Given the description of an element on the screen output the (x, y) to click on. 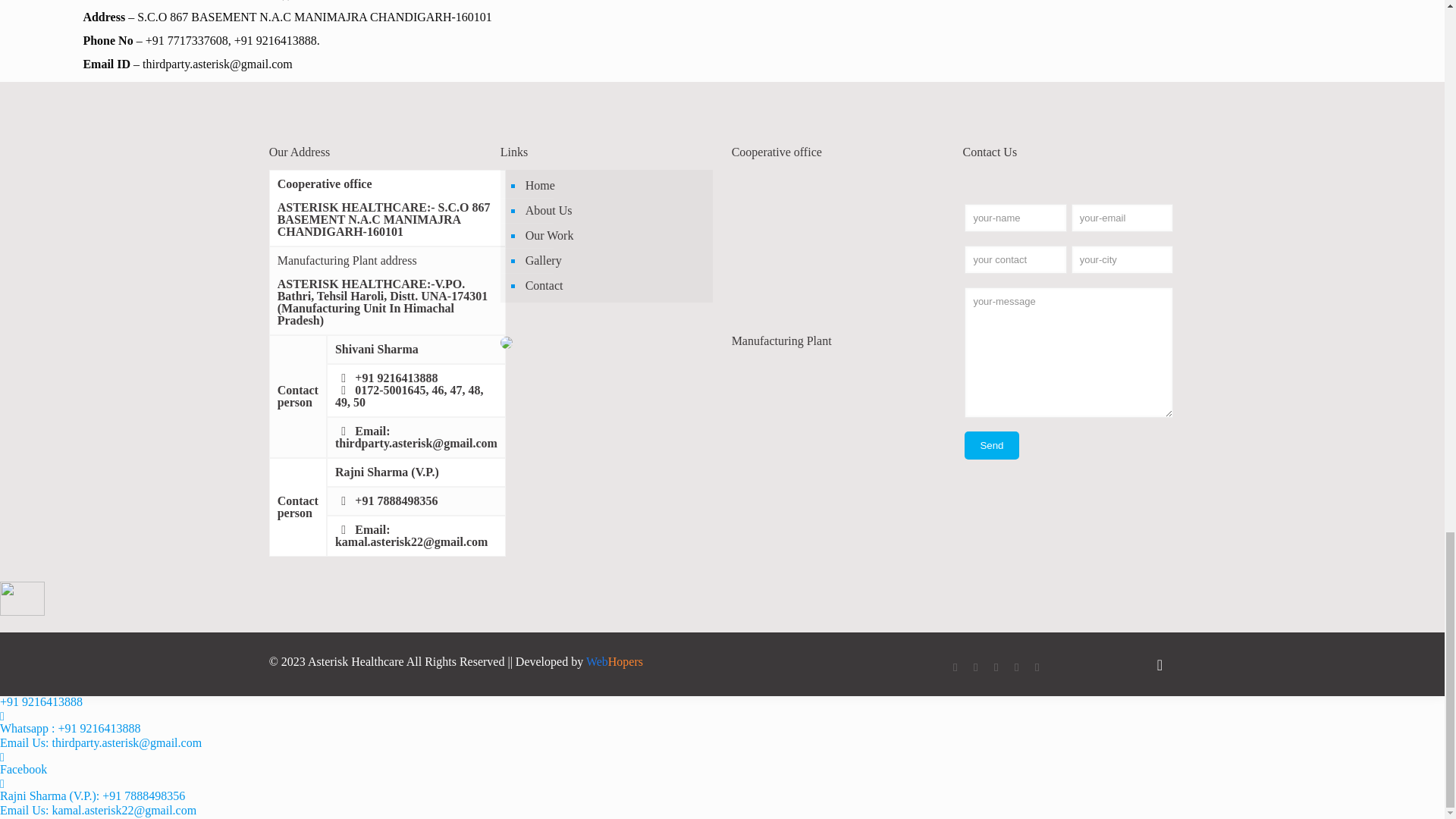
LinkedIn (996, 666)
Facebook (954, 666)
Twitter (976, 666)
Pinterest (1017, 666)
Instagram (1037, 666)
Send (990, 445)
